Given the description of an element on the screen output the (x, y) to click on. 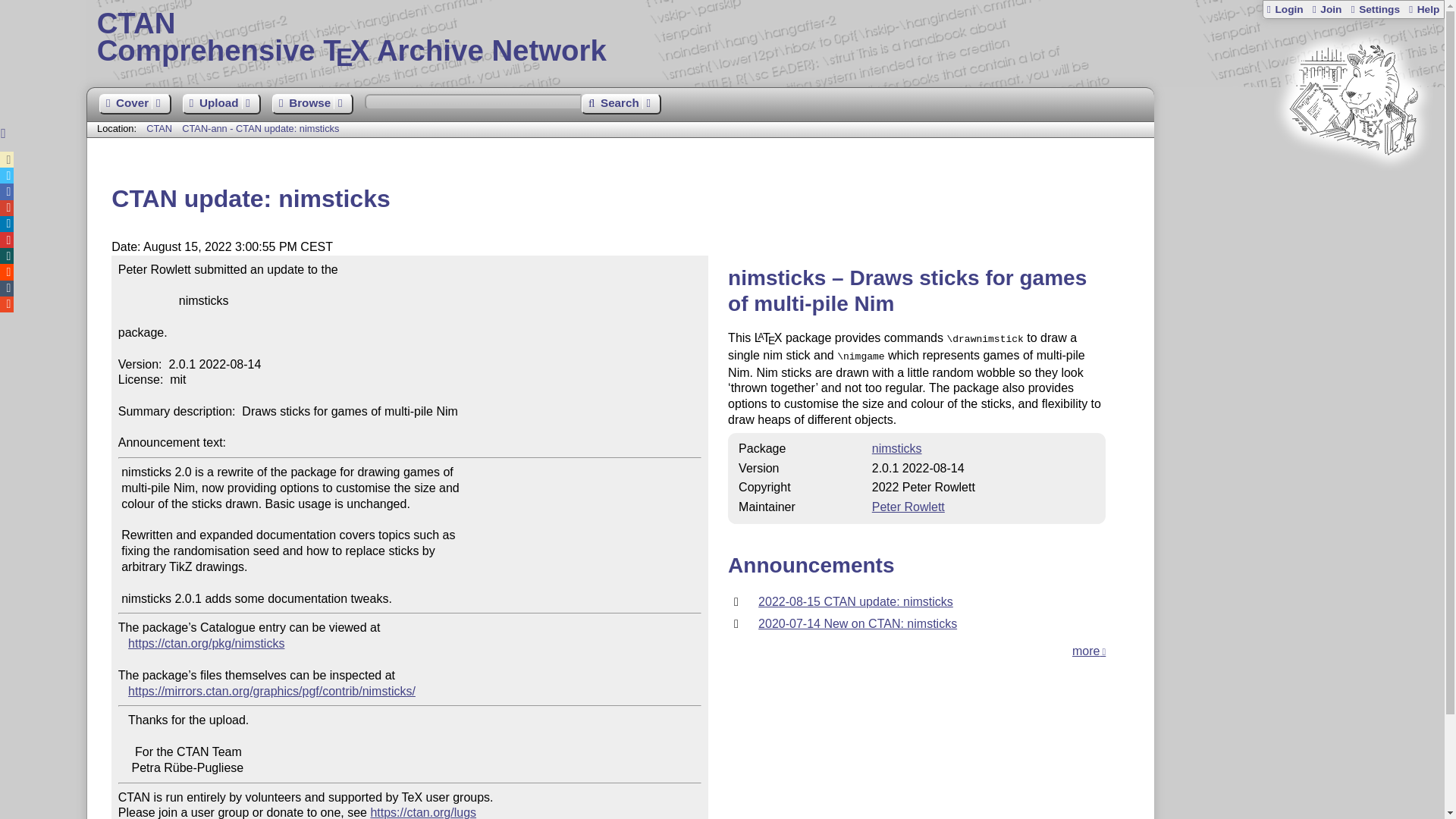
Login with your personal account (1284, 8)
Help (1423, 8)
2022-08-15 CTAN update: nimsticks (855, 601)
Search (620, 104)
Cover (134, 104)
Browse (312, 104)
Upload (221, 104)
Peter Rowlett (765, 37)
nimsticks (908, 506)
CTAN (896, 448)
CTAN lion drawing by Duane Bibby (159, 128)
CTAN-ann - CTAN update: nimsticks (1353, 183)
Register a new personal account on this site (260, 128)
Login (1325, 8)
